Given the description of an element on the screen output the (x, y) to click on. 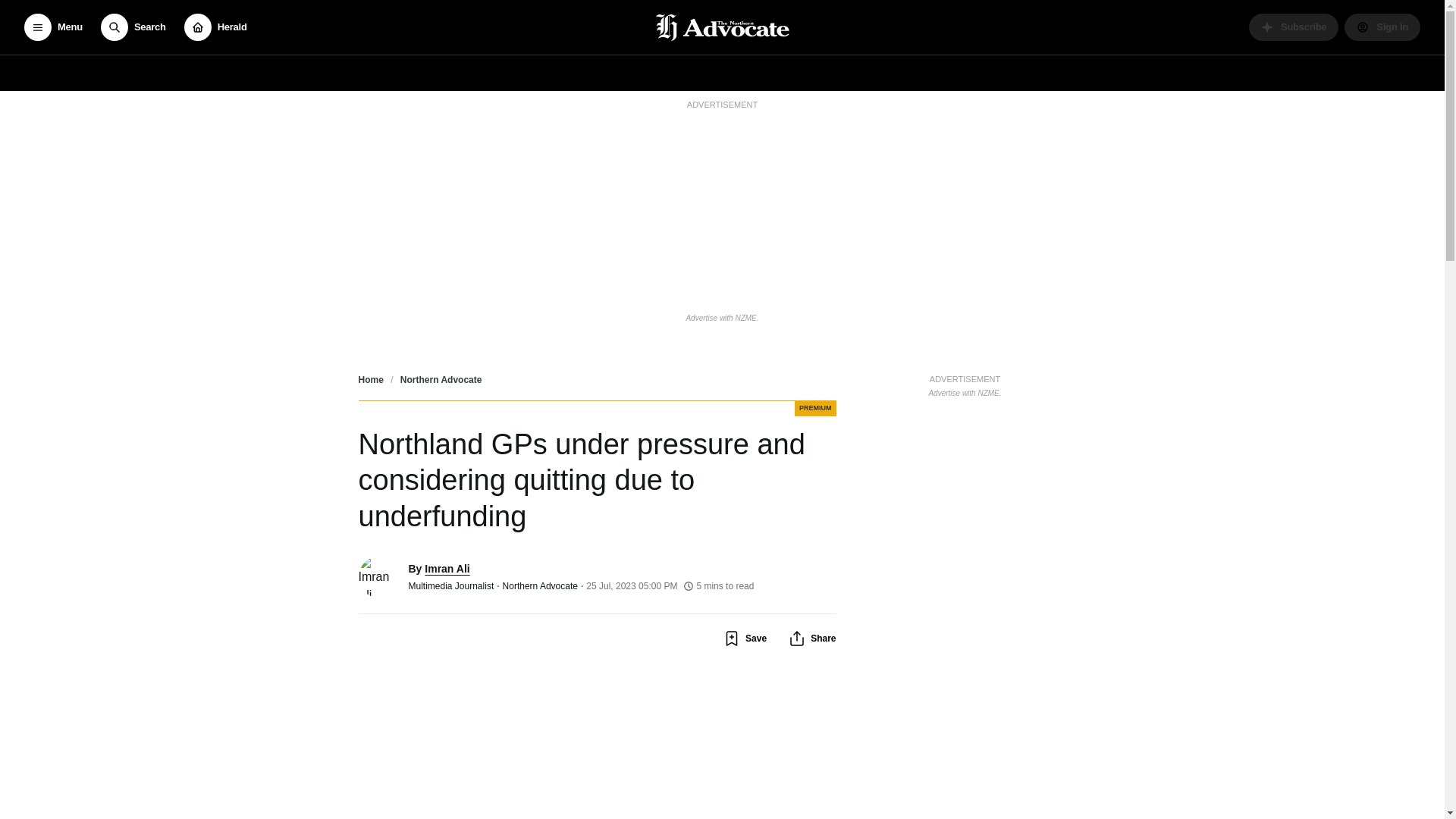
Herald (215, 26)
Manage your account (1382, 26)
Search (132, 26)
Menu (53, 26)
Sign In (1382, 26)
Subscribe (1294, 26)
